Given the description of an element on the screen output the (x, y) to click on. 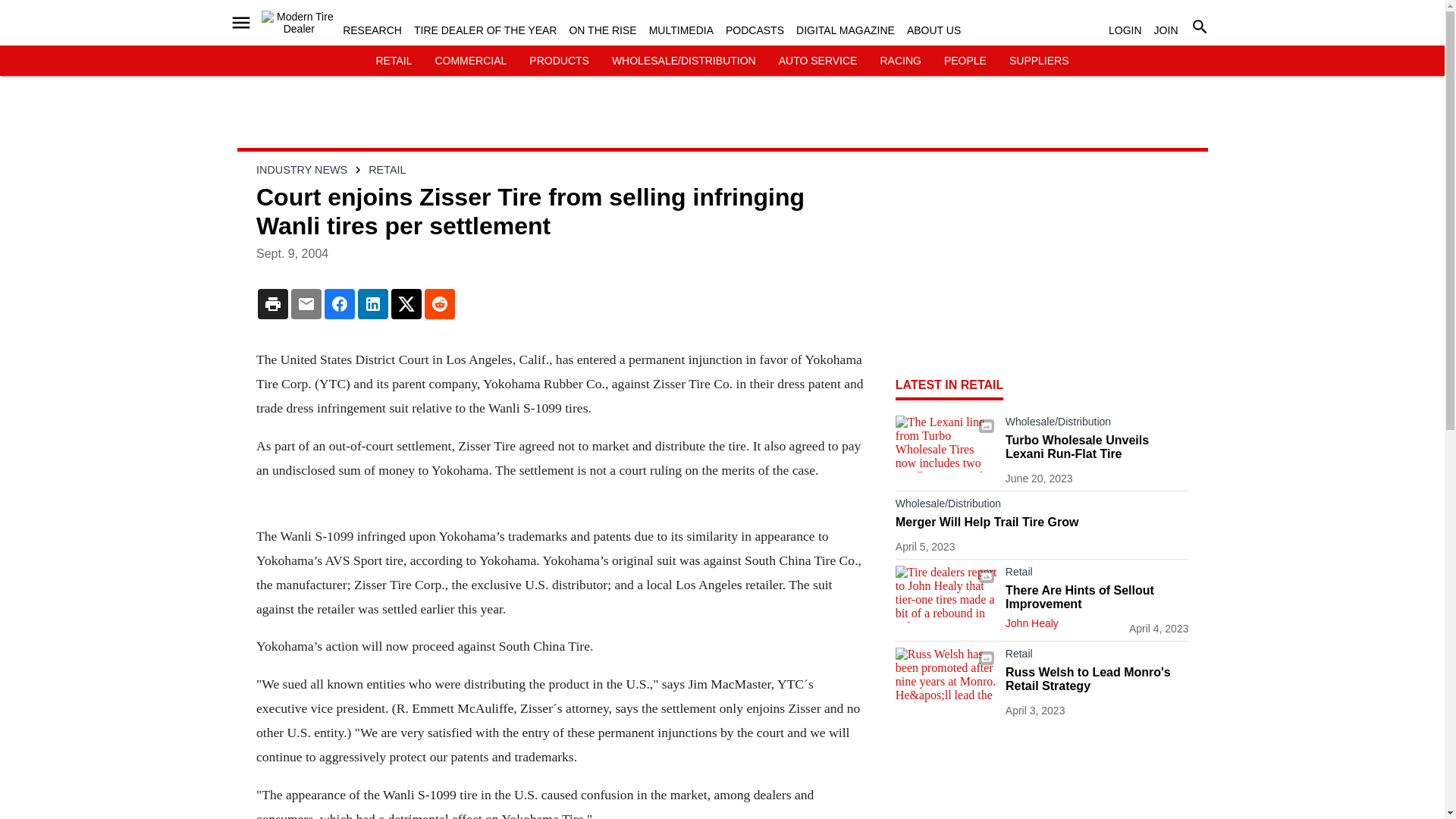
AUTO SERVICE (817, 60)
ON THE RISE (602, 30)
PODCASTS (754, 30)
PRODUCTS (559, 60)
RESEARCH (371, 30)
RETAIL (393, 60)
SUPPLIERS (1038, 60)
TIRE DEALER OF THE YEAR (485, 30)
RACING (899, 60)
